Given the description of an element on the screen output the (x, y) to click on. 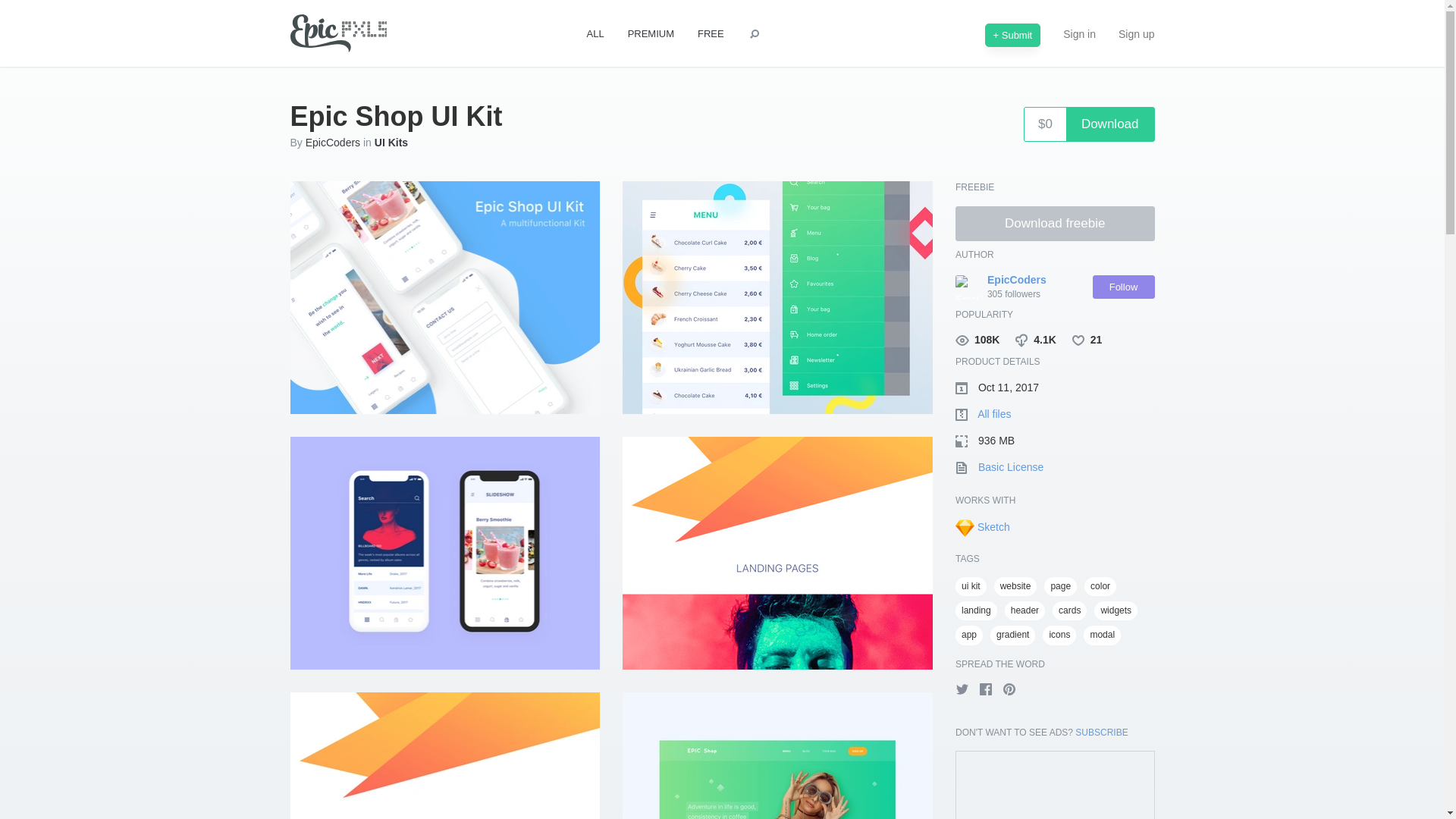
Sign in (1078, 33)
EpicCoders (1016, 280)
FREE (710, 33)
Follow (1123, 287)
Search (754, 33)
License (1054, 467)
Archive size (1054, 441)
ALL (594, 33)
Facebook (986, 691)
PREMIUM (650, 33)
Advertisement (1056, 785)
Hover over icons (1054, 500)
EpicCoders (332, 142)
Sign up (1136, 33)
EpicPxls Logo (338, 34)
